Given the description of an element on the screen output the (x, y) to click on. 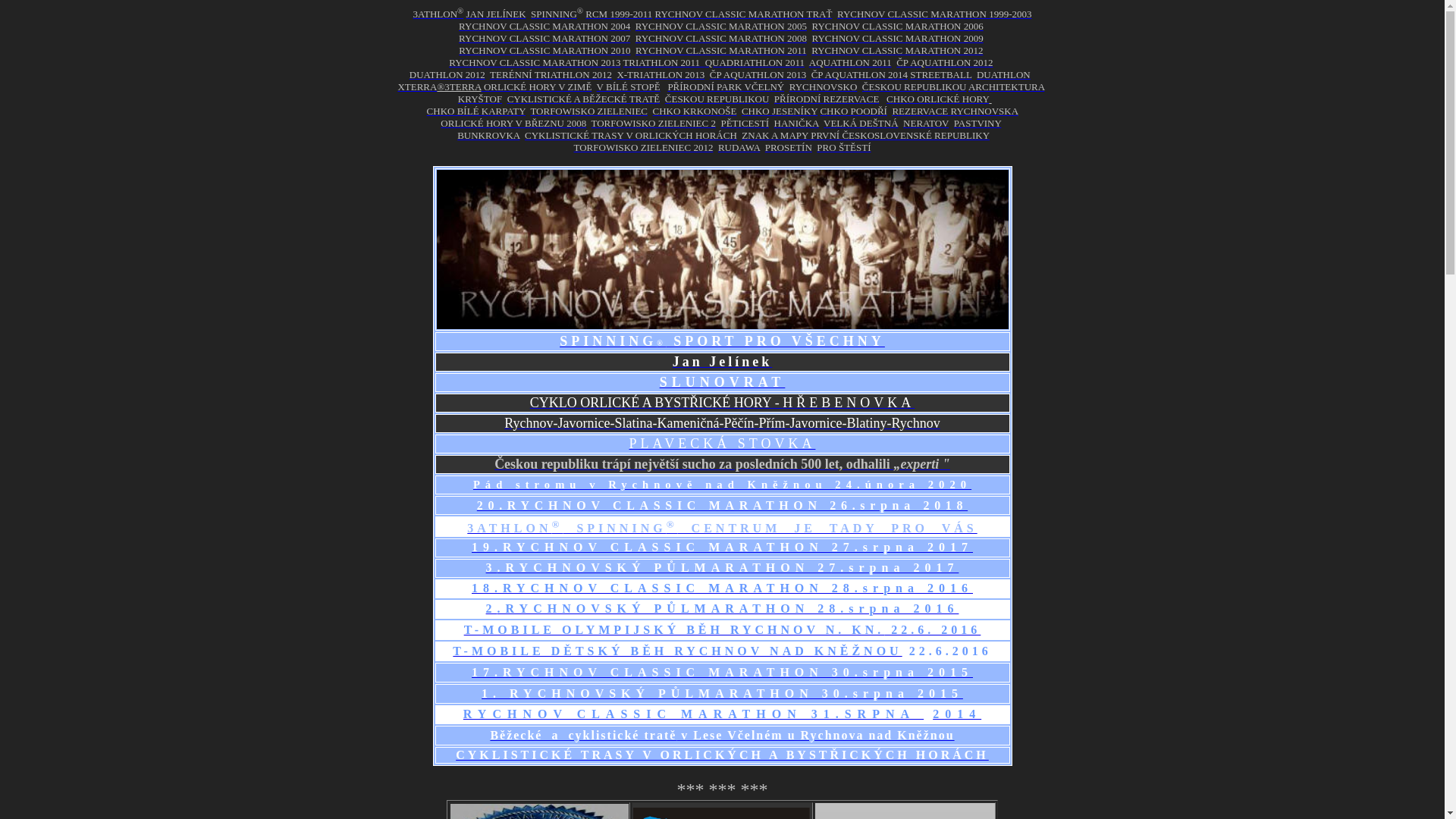
SPINNING Element type: text (553, 13)
RYCHNOVSKO Element type: text (823, 86)
REZERVACE RYCHNOVSKA Element type: text (954, 110)
TRIATHLON 2011  Element type: text (663, 62)
RYCHNOV CLASSIC MARATHON 2007 Element type: text (544, 37)
AQUATHLON 2011 Element type: text (850, 62)
DUATHLON 2012 Element type: text (447, 74)
22.6. 2016 Element type: text (932, 629)
DUATHLON Element type: text (1003, 74)
RYCHNOV CLASSIC MARATHON 2004 Element type: text (544, 25)
RYCHNOV CLASSIC MARATHON 2011 Element type: text (720, 50)
RYCHNOV CLASSIC MARATHON 31.SRPNA  Element type: text (693, 713)
20.RYCHNOV CLASSIC MARATHON 26.srpna 2018 Element type: text (721, 504)
2014 Element type: text (956, 713)
STREETBALL Element type: text (940, 74)
TORFOWISKO ZIELENIEC 2 Element type: text (653, 122)
NERATOV Element type: text (925, 122)
BUNKROVKA Element type: text (488, 135)
RYCHNOV CLASSIC MARATHON 1999-2003 Element type: text (934, 13)
TORFOWISKO ZIELENIEC Element type: text (588, 110)
PASTVINY Element type: text (977, 122)
3 Element type: text (491, 567)
18 Element type: text (482, 587)
RYCHNOV CLASSIC MARATHON 2010 Element type: text (544, 50)
RYCHNOV CLASSIC MARATHON 2008 Element type: text (720, 37)
TORFOWISKO ZIELENIEC 2012 Element type: text (642, 146)
RYCHNOV CLASSIC MARATHON 2013 Element type: text (534, 62)
RYCHNOV CLASSIC MARATHON 2006 Element type: text (896, 25)
SLUNOVRAT Element type: text (722, 382)
RYCHNOV CLASSIC MARATHON 2005 Element type: text (720, 25)
17.RYCHNOV CLASSIC MARATHON 30.srpna 2015 Element type: text (721, 671)
X-TRIATHLON 2013 Element type: text (660, 74)
RUDAWA Element type: text (738, 147)
RCM 1999-2011 Element type: text (618, 13)
RYCHNOV CLASSIC MARATHON 2012 Element type: text (896, 50)
.RYCHNOV CLASSIC MARATHON 28.srpna 2016 Element type: text (733, 587)
ARCHITEKTURA Element type: text (1006, 86)
SPINNING Element type: text (607, 340)
QUADRIATHLON 2011 Element type: text (754, 62)
19.RYCHNOV CLASSIC MARATHON 27.srpna 2017 Element type: text (721, 546)
RYCHNOV CLASSIC MARATHON 2009 Element type: text (896, 37)
